Given the description of an element on the screen output the (x, y) to click on. 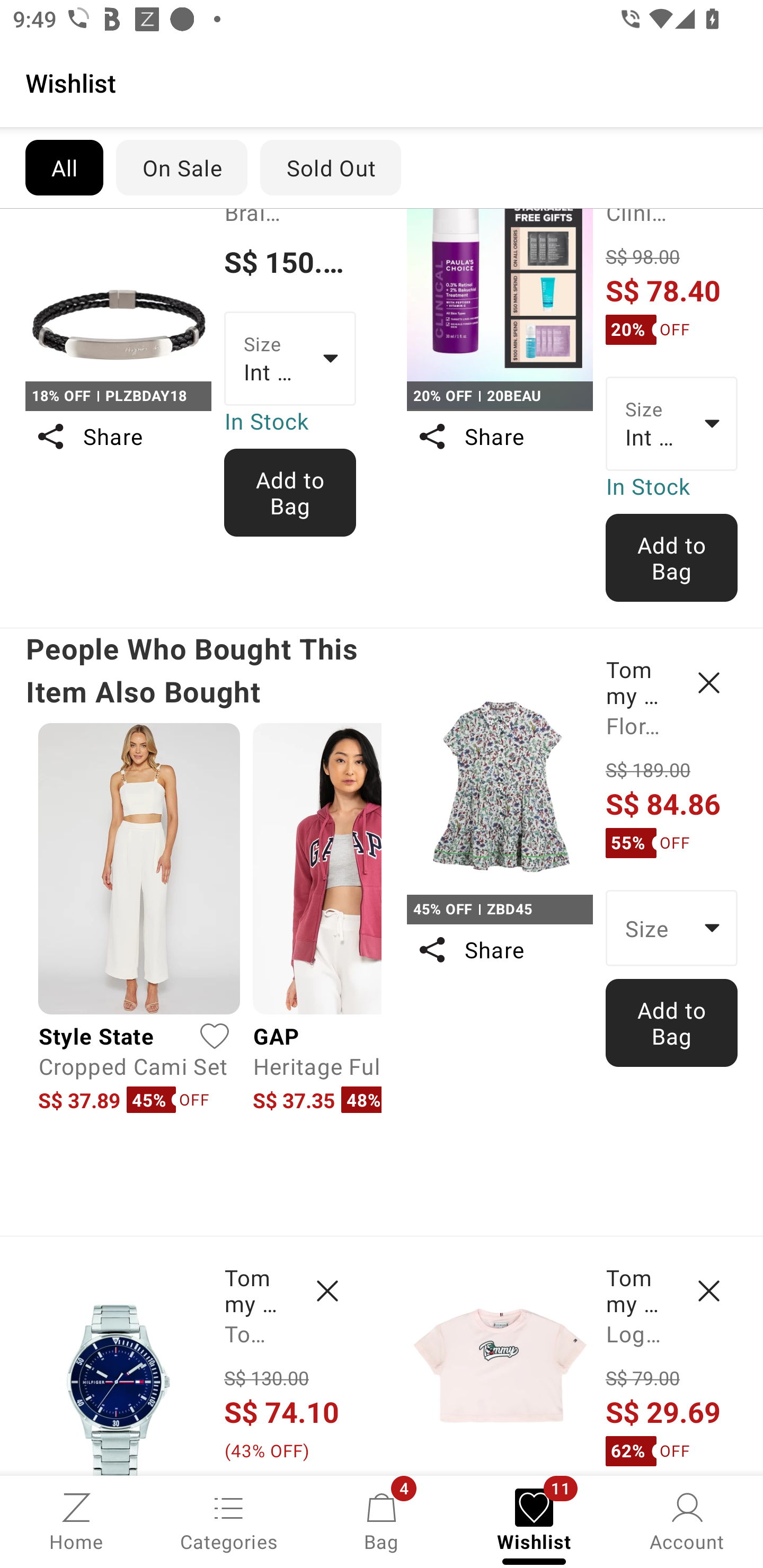
Wishlist (381, 82)
All (64, 167)
On Sale (181, 167)
Sold Out (330, 167)
Size Int One Size (290, 359)
Size Int 30 ml (671, 423)
Share (118, 436)
Share (499, 436)
Add to Bag (290, 492)
Add to Bag (671, 558)
Size (671, 927)
Share (499, 950)
Add to Bag (671, 1022)
Home (76, 1519)
Categories (228, 1519)
Bag, 4 new notifications Bag (381, 1519)
Account (686, 1519)
